Given the description of an element on the screen output the (x, y) to click on. 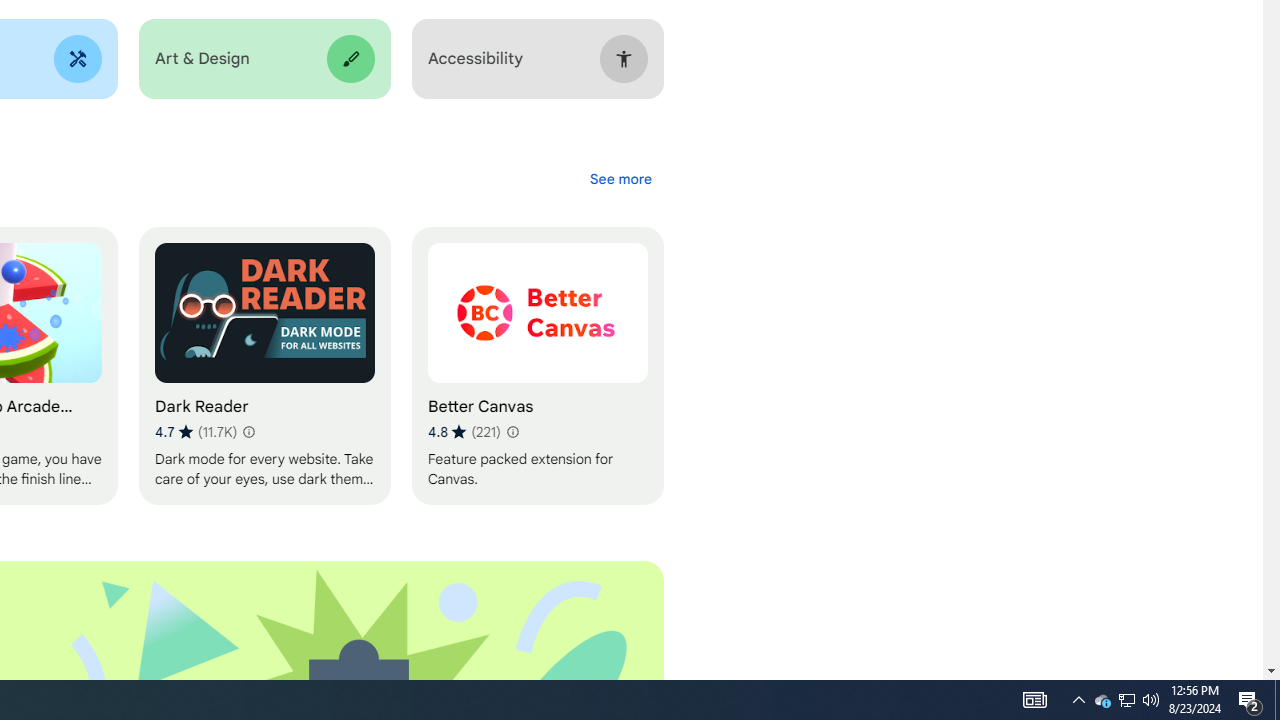
Action Center, 2 new notifications (1250, 699)
Better Canvas (1102, 699)
Notification Chevron (537, 366)
